Given the description of an element on the screen output the (x, y) to click on. 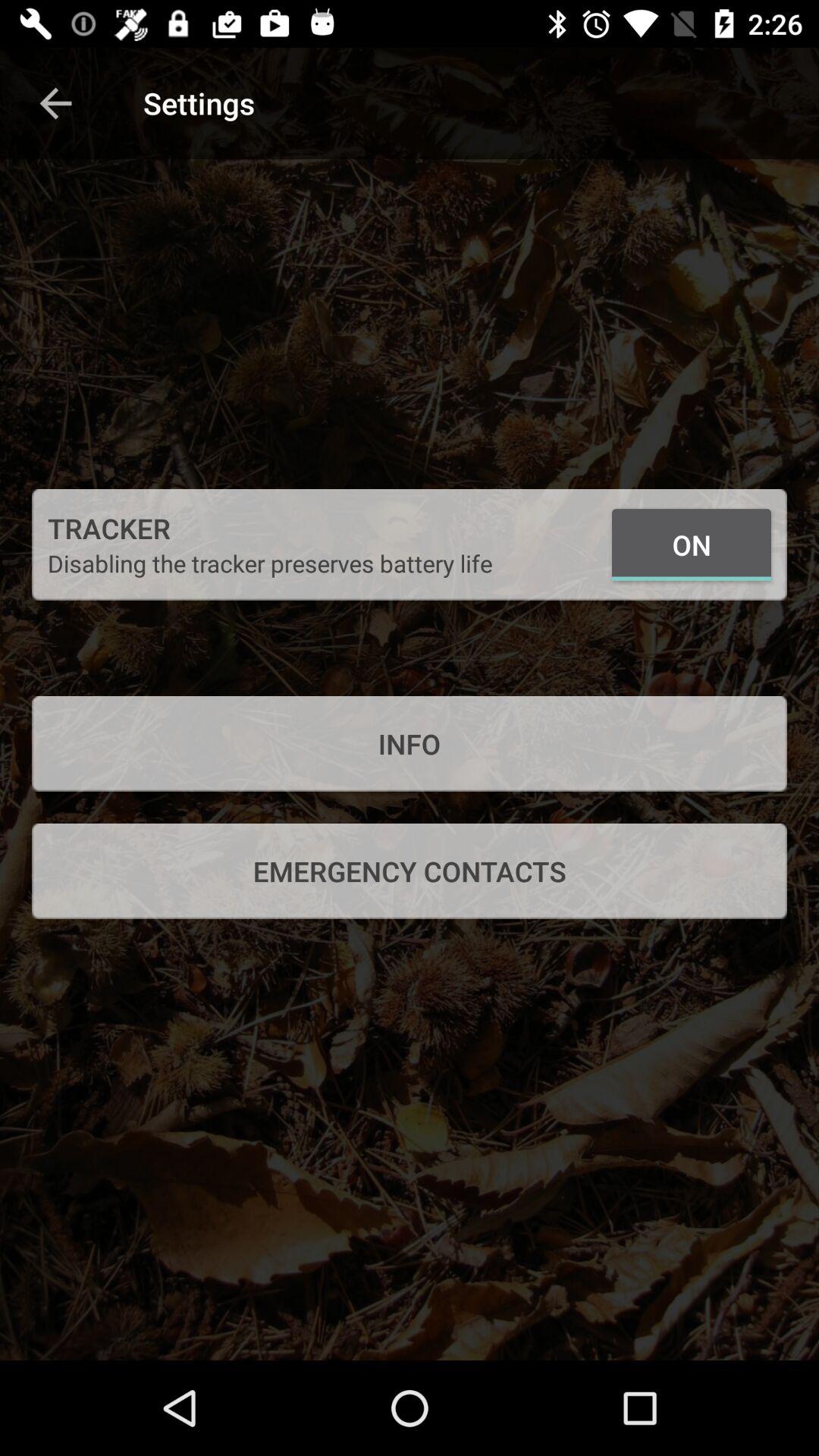
launch the item above the info icon (691, 544)
